Given the description of an element on the screen output the (x, y) to click on. 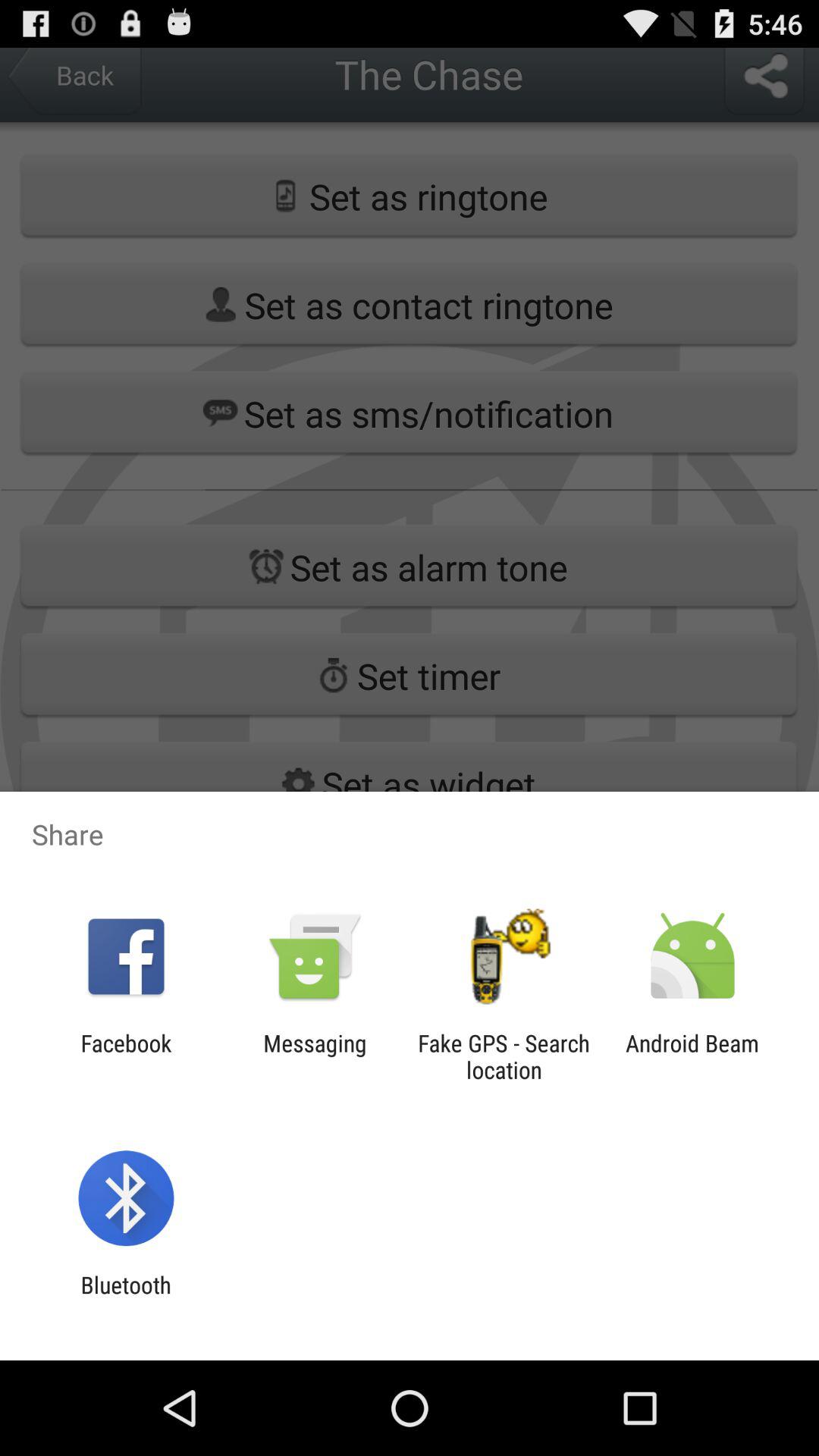
turn on the item next to the android beam app (503, 1056)
